Given the description of an element on the screen output the (x, y) to click on. 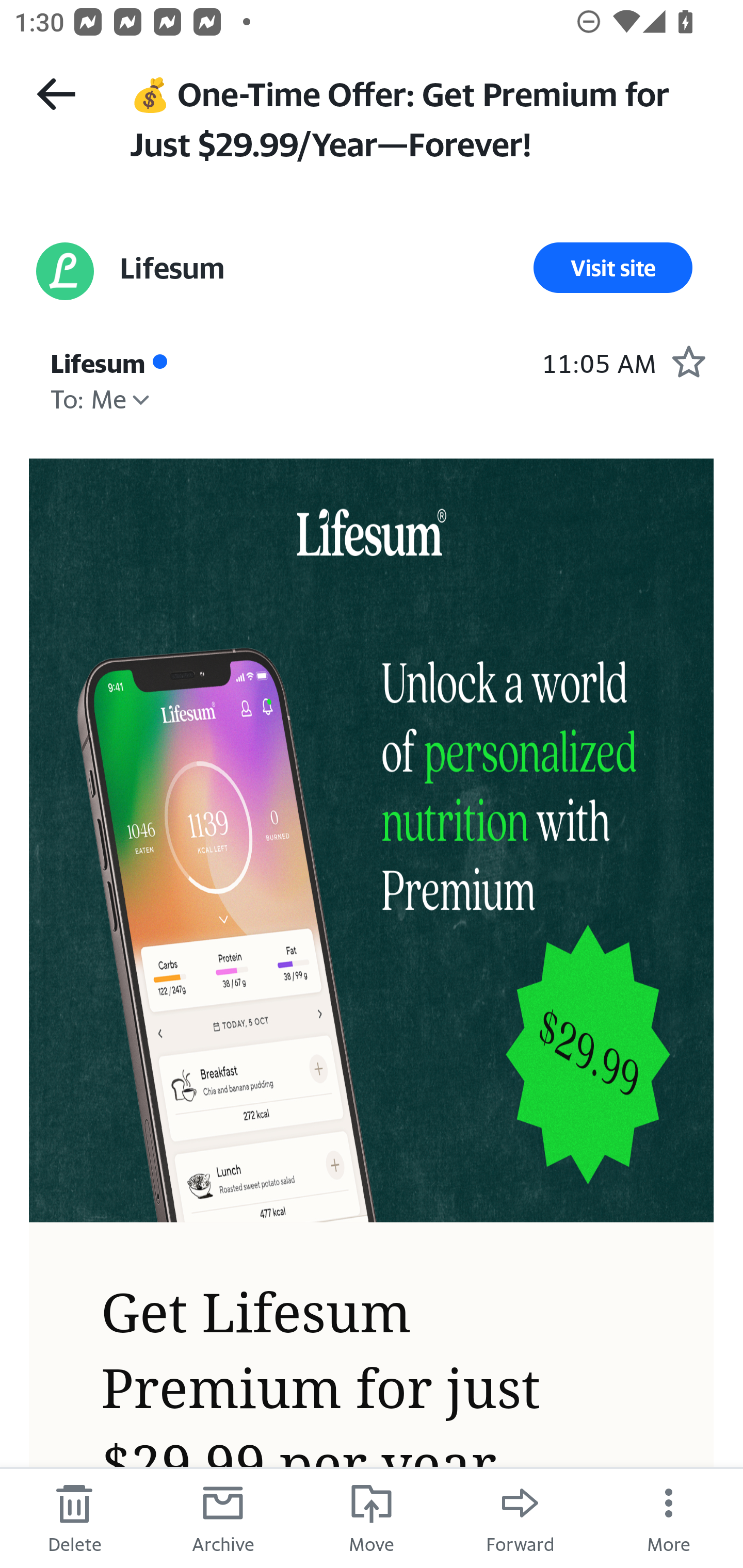
Back (55, 93)
View all messages from sender (64, 271)
Visit site Visit Site Link (612, 268)
Lifesum Sender Lifesum (171, 267)
Lifesum Sender Lifesum (97, 361)
Mark as starred. (688, 361)
Delete (74, 1517)
Archive (222, 1517)
Move (371, 1517)
Forward (519, 1517)
More (668, 1517)
